Given the description of an element on the screen output the (x, y) to click on. 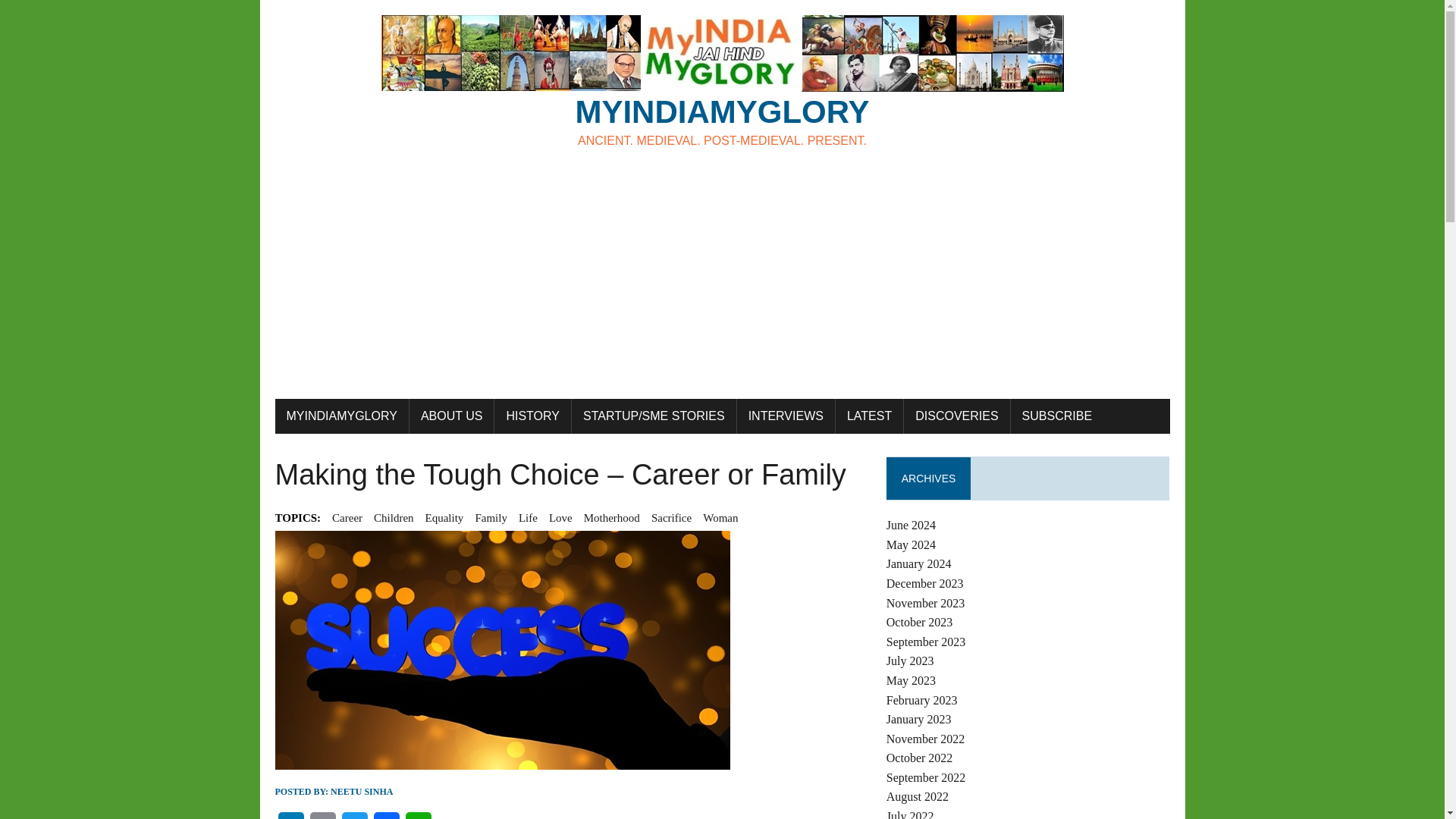
MYINDIAMYGLORY (341, 416)
ABOUT US (452, 416)
LinkedIn (290, 815)
Twitter (353, 815)
myIndiamyGlory (722, 81)
WhatsApp (417, 815)
HISTORY (532, 416)
Facebook (722, 81)
Email (385, 815)
